Given the description of an element on the screen output the (x, y) to click on. 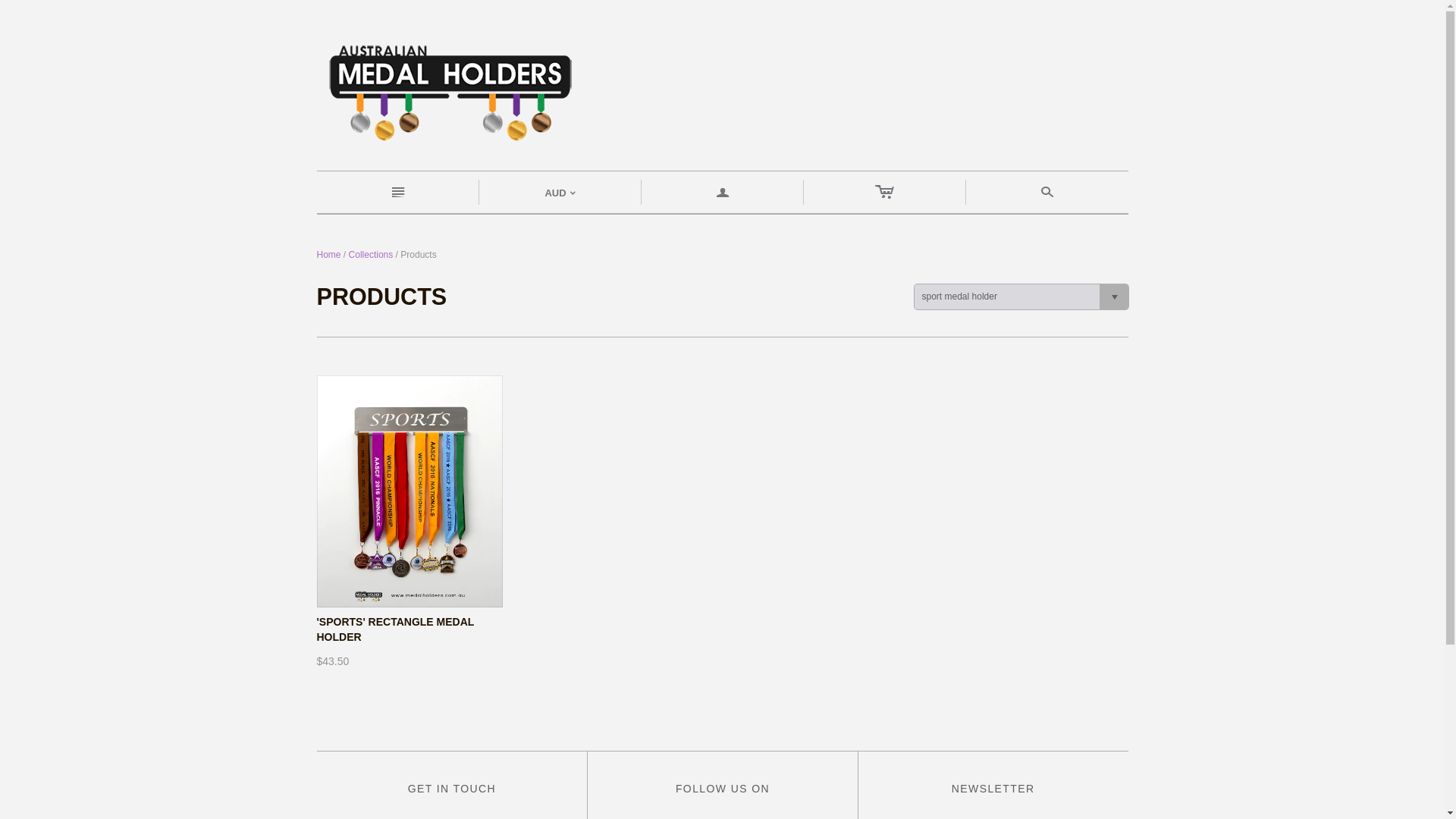
'SPORTS' RECTANGLE MEDAL HOLDER Element type: text (395, 629)
Collections Element type: text (370, 254)
Home Element type: text (328, 254)
a Element type: text (722, 192)
c Element type: text (884, 192)
